Given the description of an element on the screen output the (x, y) to click on. 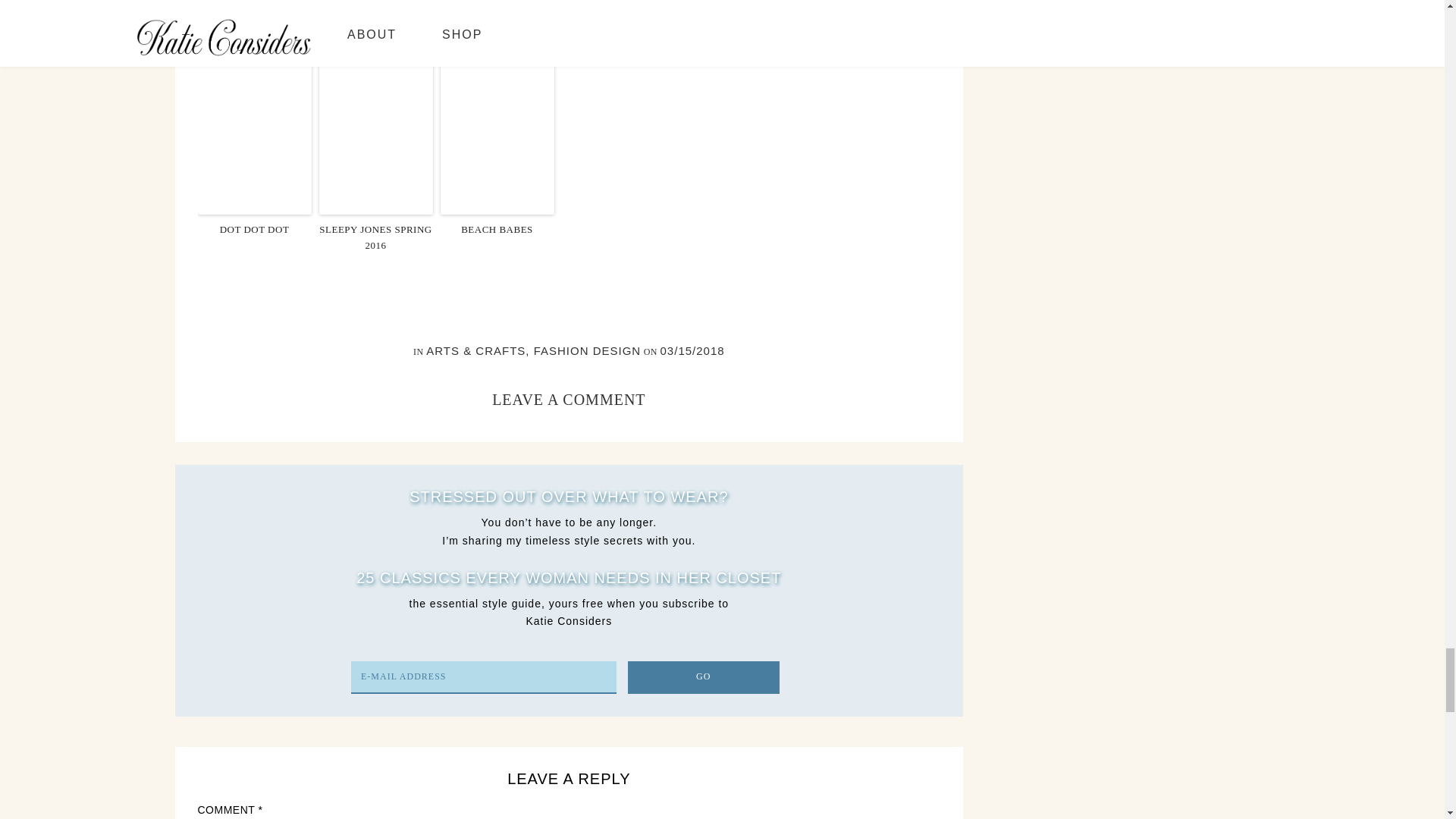
DOT DOT DOT (253, 229)
BEACH BABES (496, 229)
LEAVE A COMMENT (568, 399)
Go (702, 676)
FASHION DESIGN (588, 350)
SLEEPY JONES SPRING 2016 (375, 237)
